Given the description of an element on the screen output the (x, y) to click on. 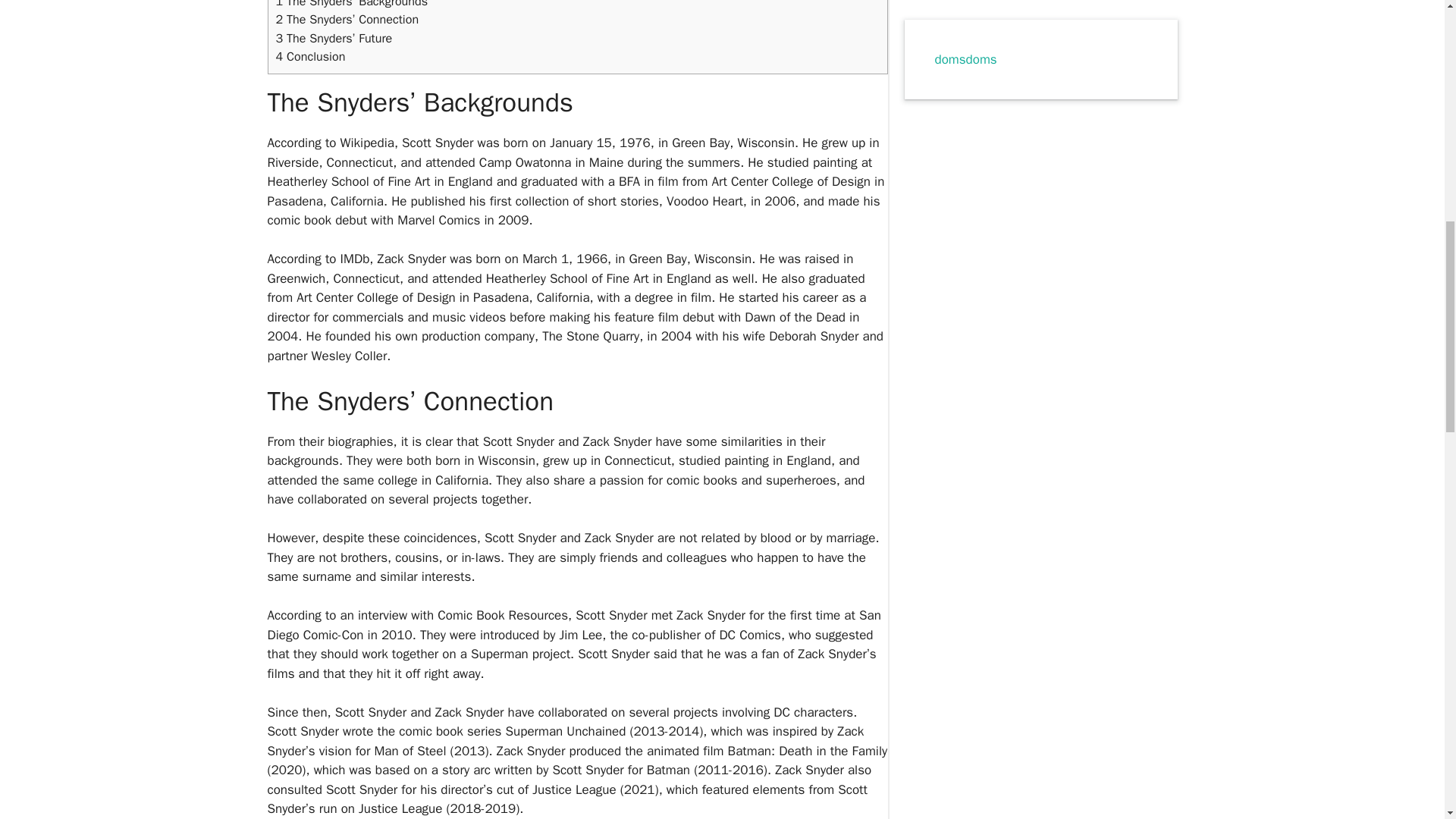
4 Conclusion (311, 56)
